Given the description of an element on the screen output the (x, y) to click on. 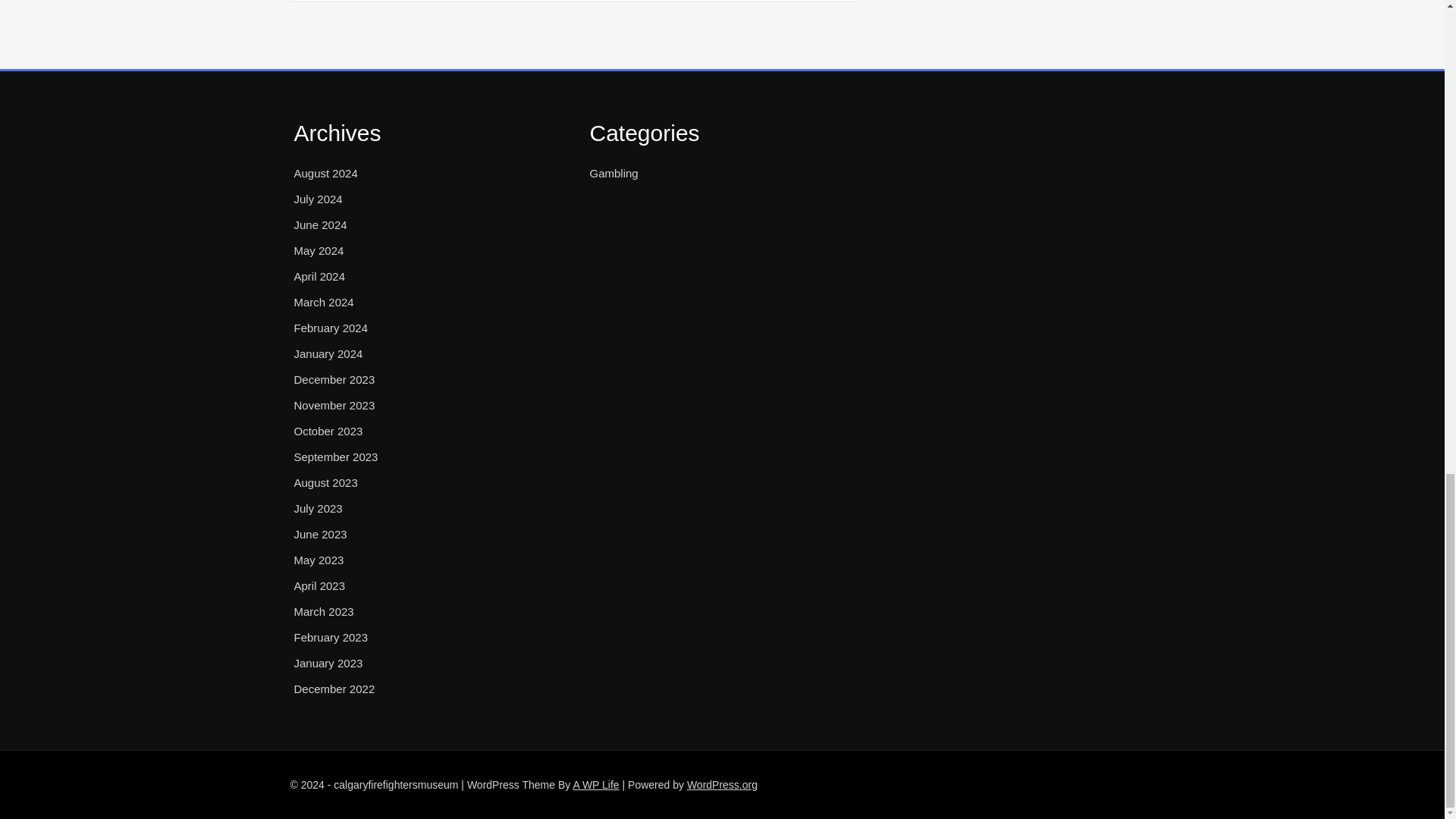
August 2024 (326, 173)
January 2024 (328, 353)
June 2023 (320, 534)
March 2024 (323, 302)
September 2023 (336, 456)
February 2023 (331, 637)
April 2023 (320, 586)
May 2023 (318, 560)
May 2024 (318, 250)
October 2023 (328, 431)
